Given the description of an element on the screen output the (x, y) to click on. 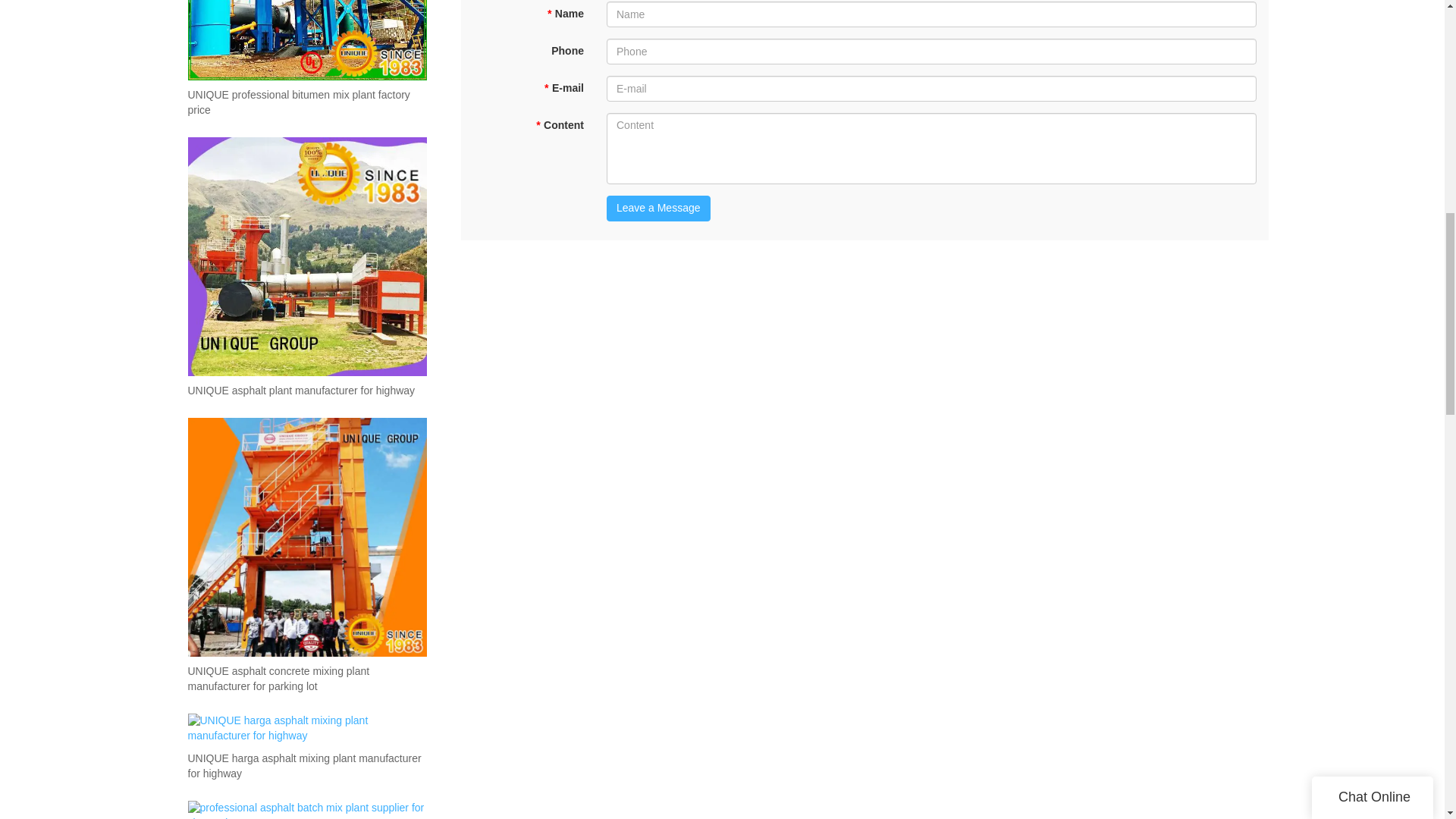
UNIQUE asphalt plant manufacturer for highway (300, 391)
UNIQUE asphalt plant manufacturer for highway (300, 391)
UNIQUE harga asphalt mixing plant manufacturer for highway (306, 766)
UNIQUE professional bitumen mix plant factory price (306, 102)
UNIQUE professional bitumen mix plant factory price (306, 102)
